Given the description of an element on the screen output the (x, y) to click on. 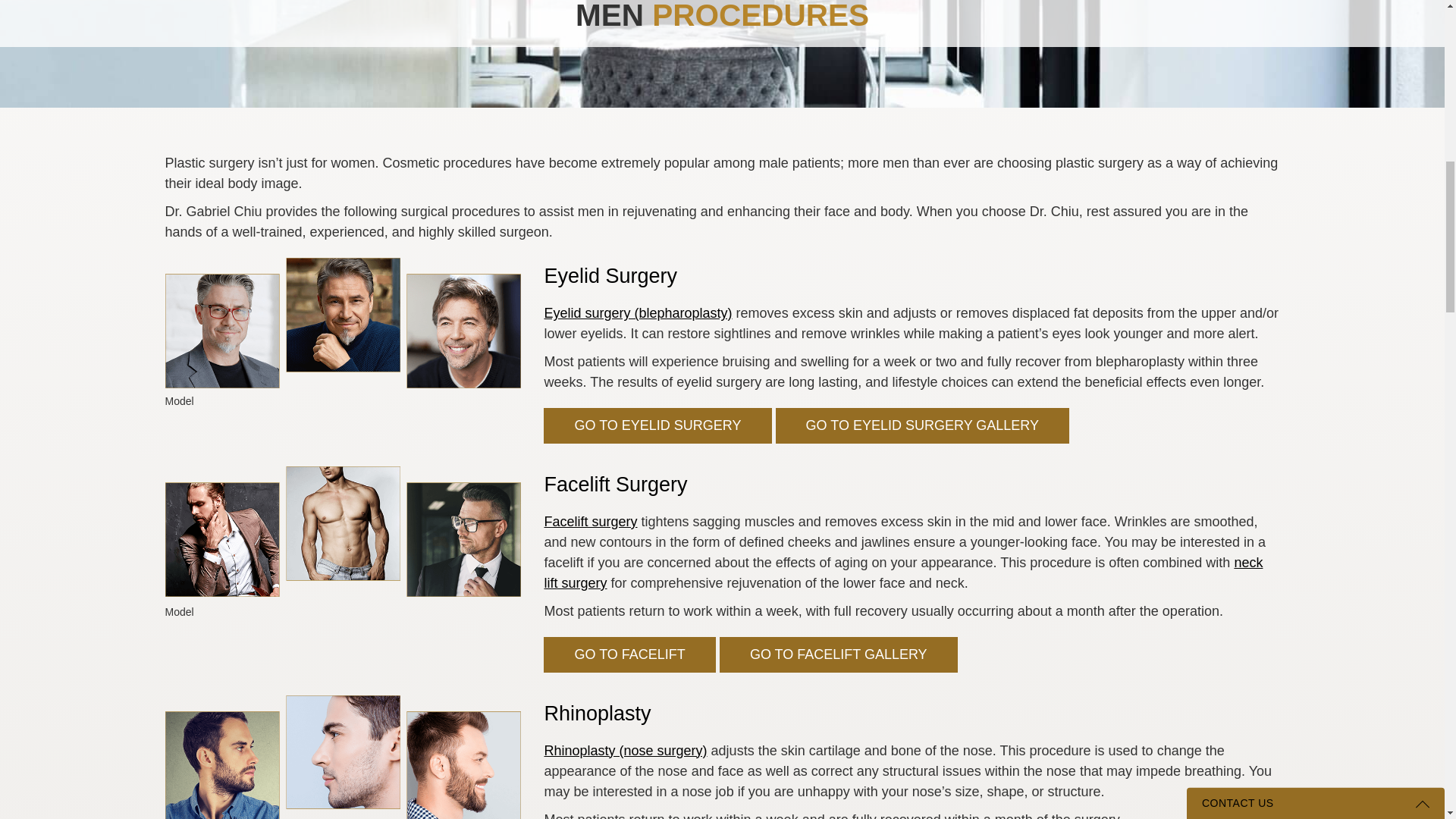
reCAPTCHA (1317, 445)
Send Message (1262, 502)
